Given the description of an element on the screen output the (x, y) to click on. 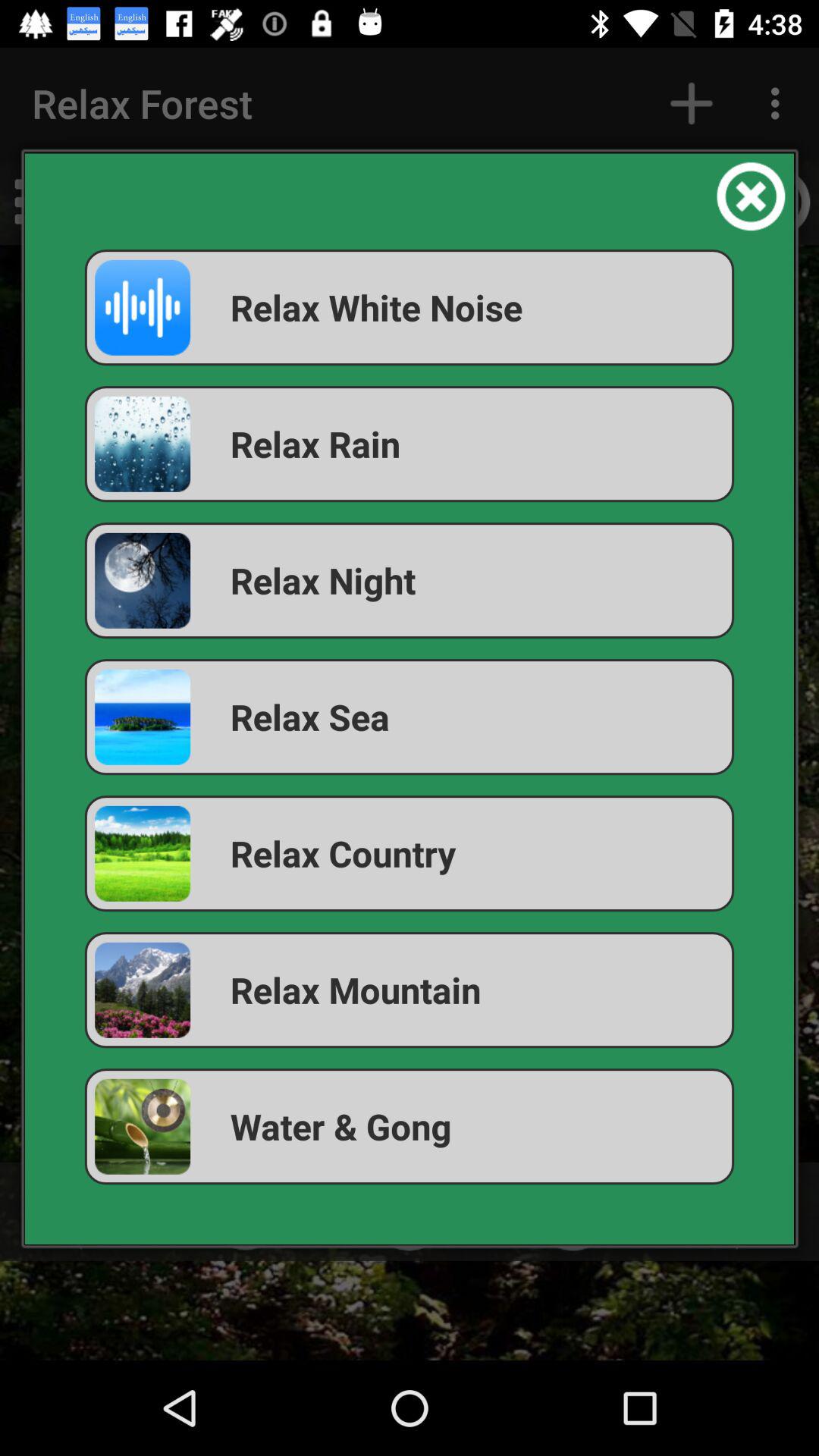
press the icon above relax sea (409, 580)
